Given the description of an element on the screen output the (x, y) to click on. 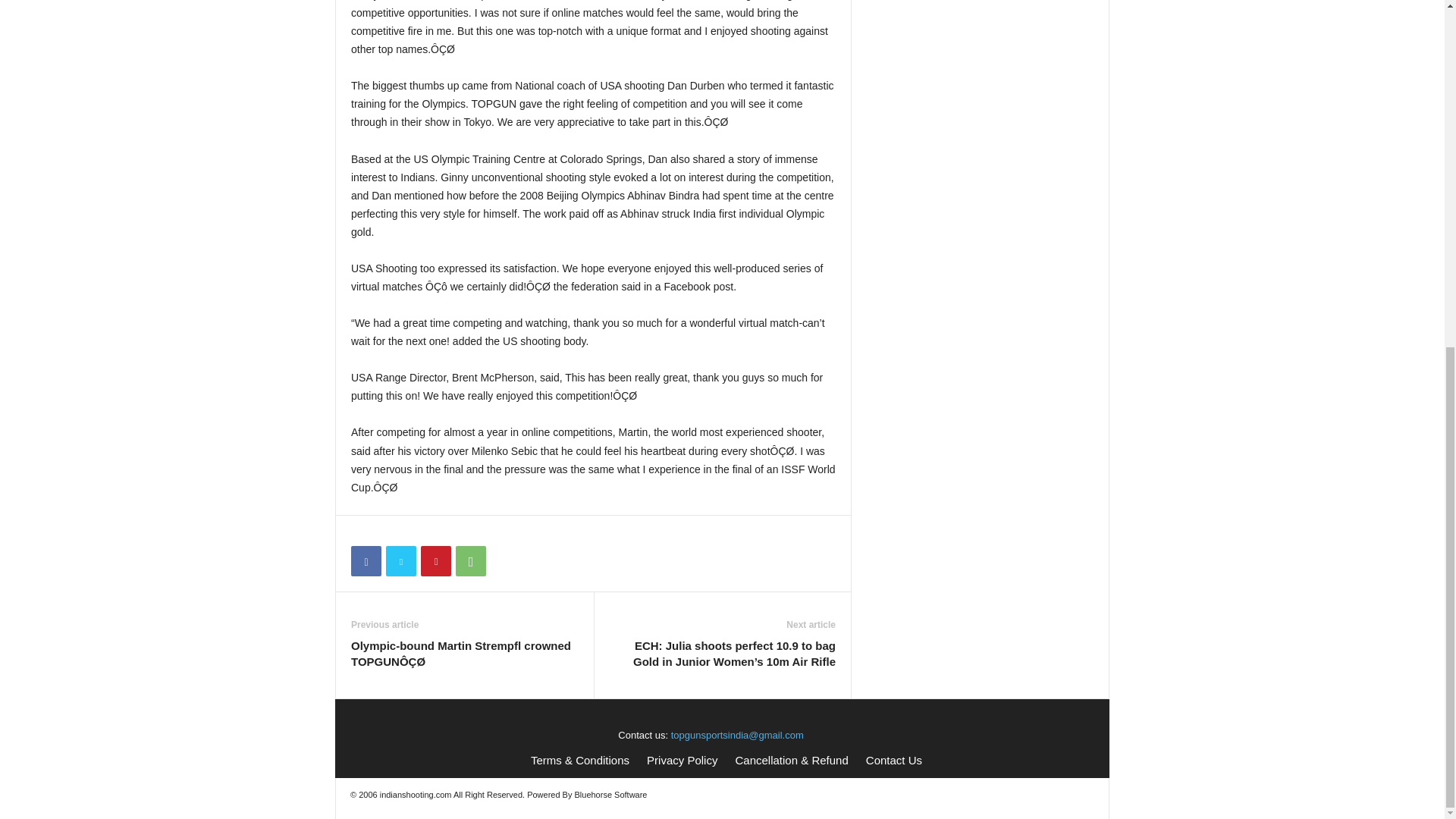
Twitter (400, 561)
WhatsApp (470, 561)
bottomFacebookLike (390, 530)
Facebook (365, 561)
Pinterest (435, 561)
